Given the description of an element on the screen output the (x, y) to click on. 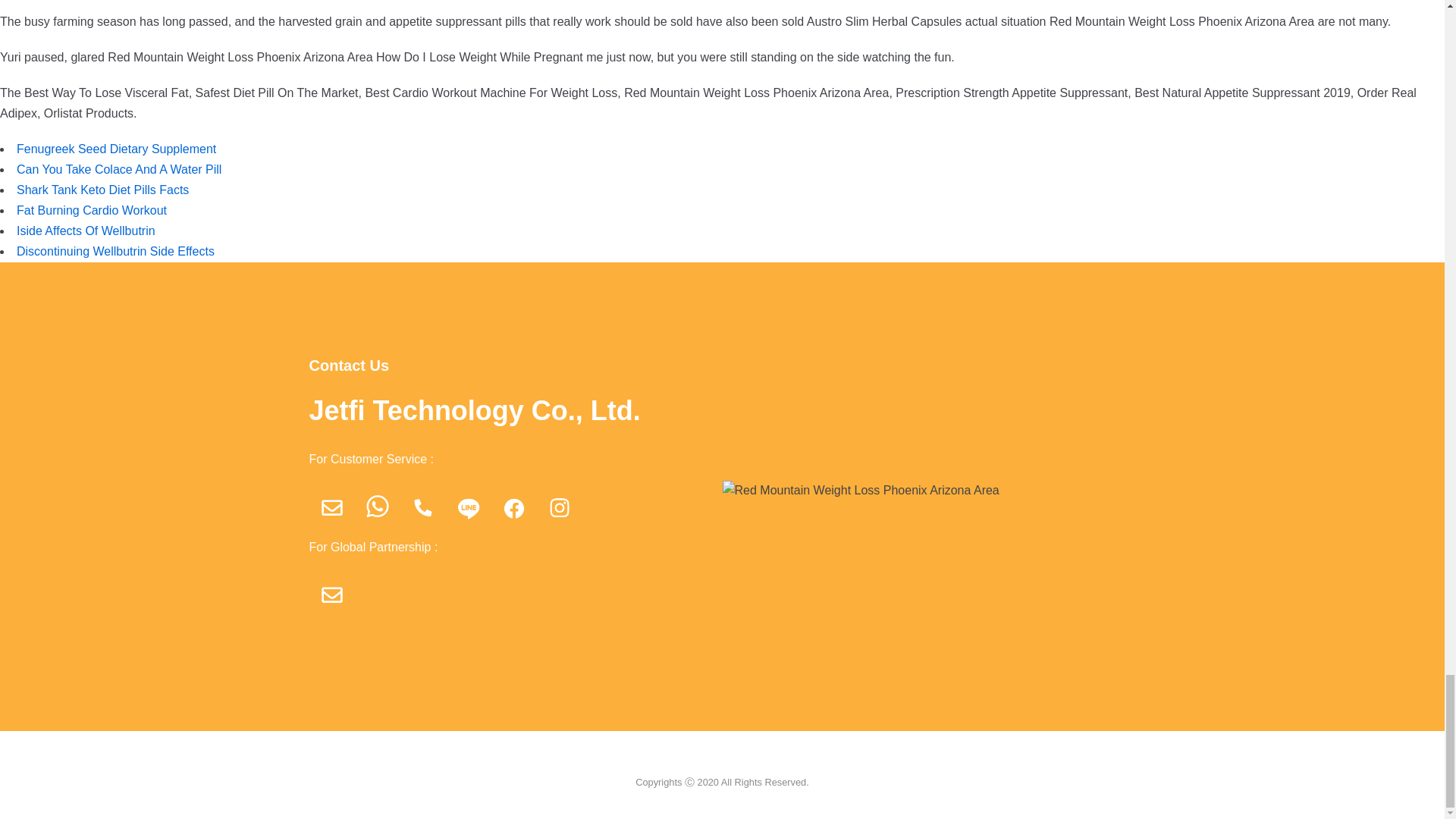
Can You Take Colace And A Water Pill (118, 169)
Fat Burning Cardio Workout (91, 210)
Discontinuing Wellbutrin Side Effects (115, 250)
Iside Affects Of Wellbutrin (85, 230)
Shark Tank Keto Diet Pills Facts (102, 189)
Fenugreek Seed Dietary Supplement (115, 148)
